Given the description of an element on the screen output the (x, y) to click on. 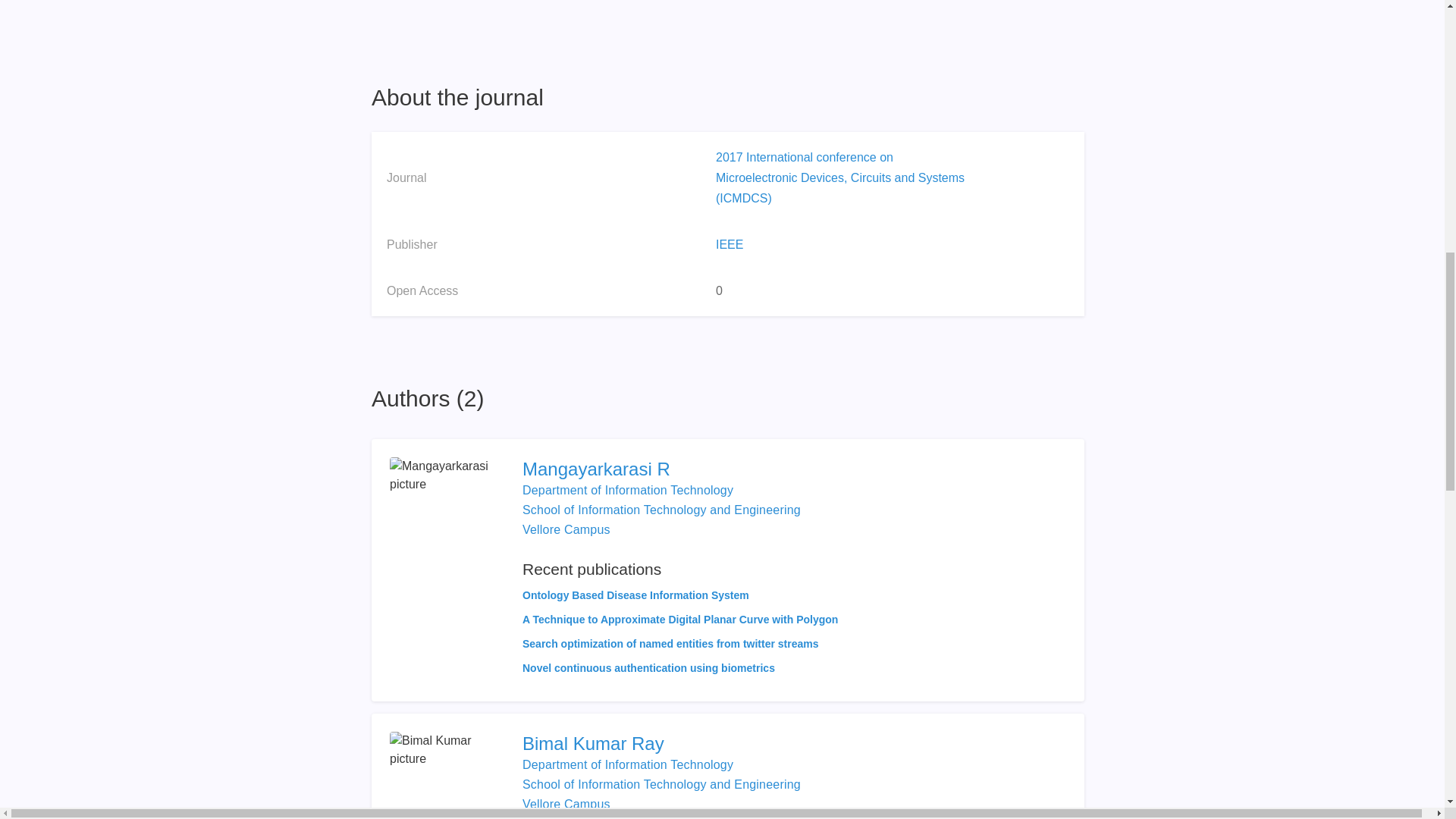
Mangayarkarasi R (680, 469)
Vellore Campus (566, 803)
Department of Information Technology (627, 764)
Vellore Campus (566, 529)
Ontology Based Disease Information System (635, 594)
A Technique to Approximate Digital Planar Curve with Polygon (680, 619)
School of Information Technology and Engineering (661, 784)
IEEE (729, 244)
Bimal Kumar Ray (716, 743)
Search optimization of named entities from twitter streams (670, 644)
Novel continuous authentication using biometrics (648, 667)
School of Information Technology and Engineering (661, 509)
Department of Information Technology (627, 490)
